Given the description of an element on the screen output the (x, y) to click on. 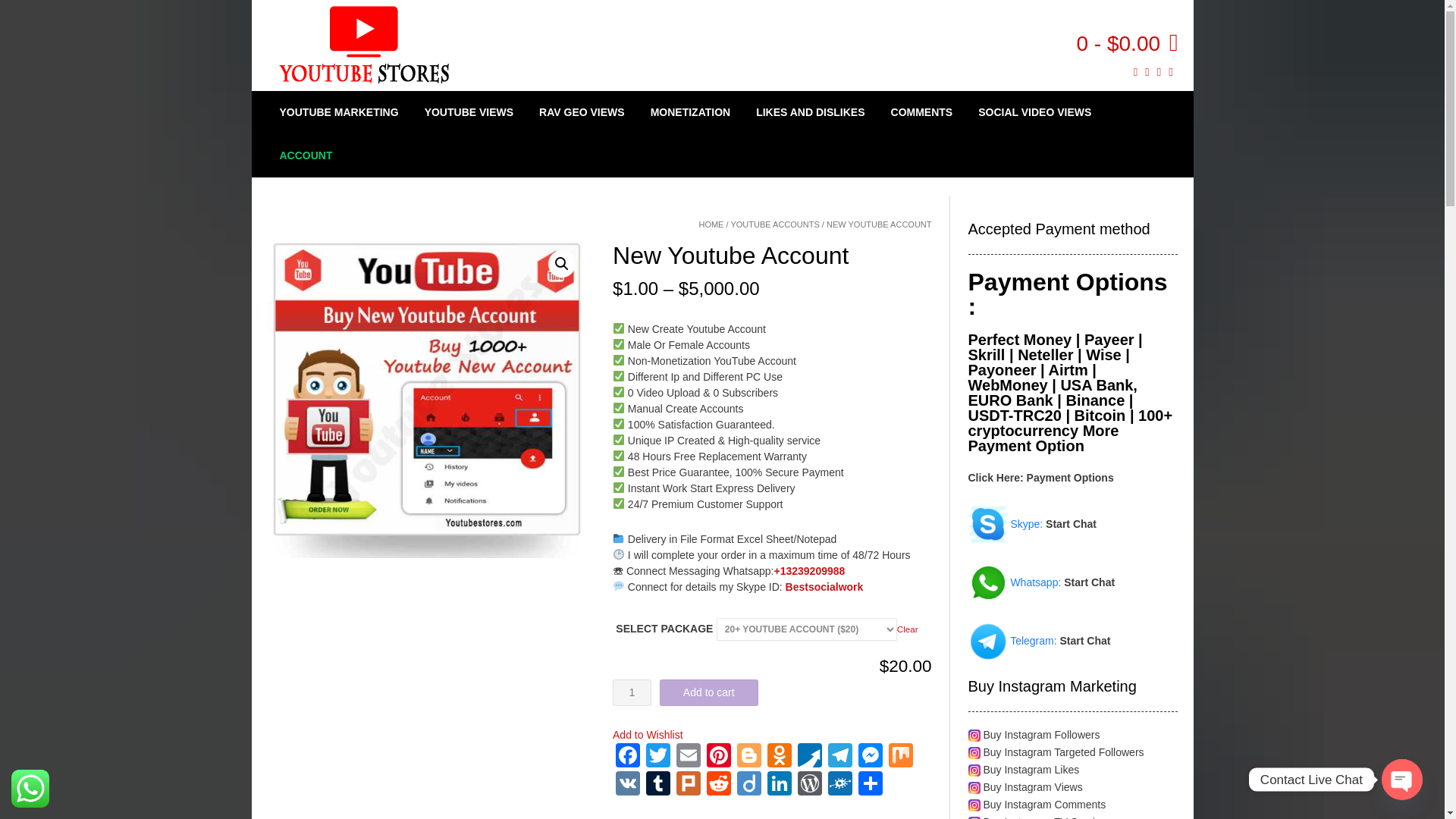
Twitter (657, 756)
View your shopping cart (1127, 42)
Follow Us on Twitter (1170, 72)
1 (631, 692)
YOUTUBE MARKETING (338, 112)
Send Us an Email (1135, 72)
Telegram (840, 756)
Pinterest (718, 756)
Odnoklassniki (779, 756)
Blogger (748, 756)
Facebook (627, 756)
Pusha (809, 756)
YOUTUBE VIEWS (468, 112)
Find Us on Facebook (1158, 72)
Email (687, 756)
